Given the description of an element on the screen output the (x, y) to click on. 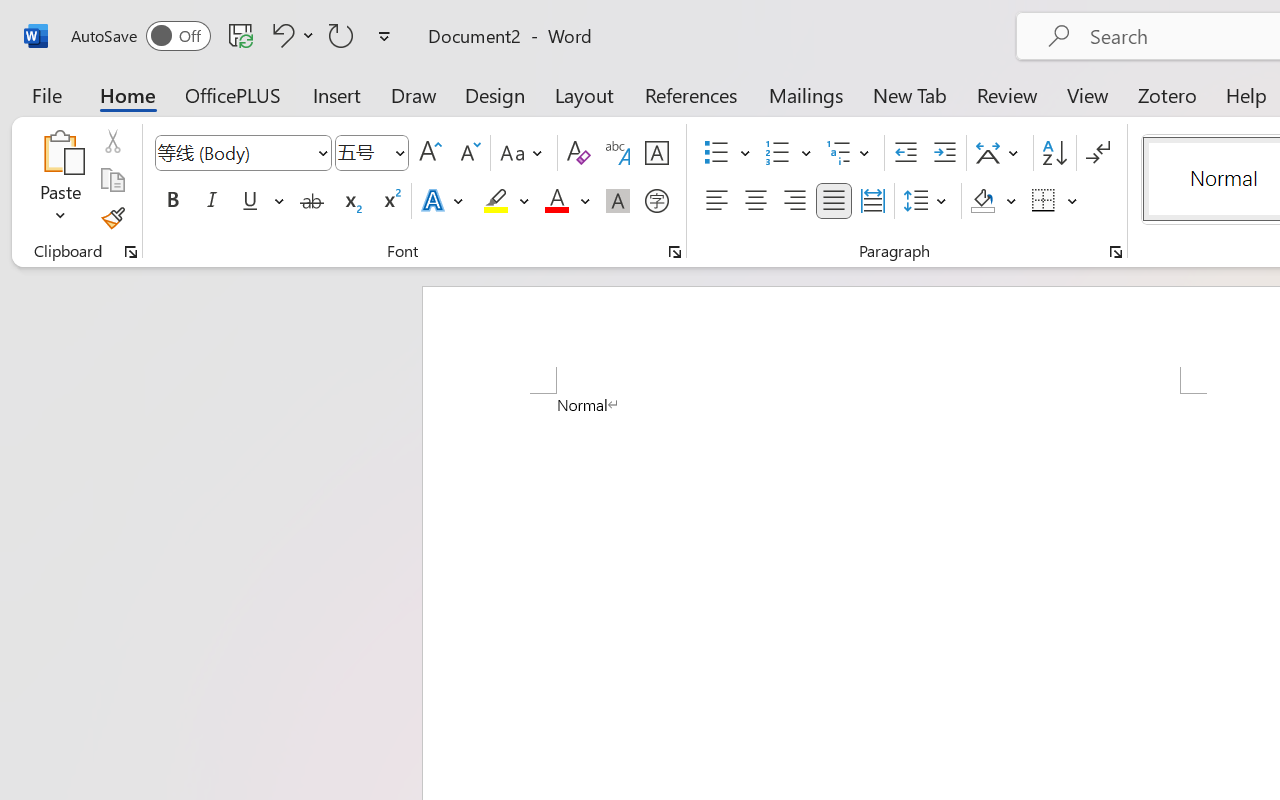
AutoSave (140, 35)
Borders (1044, 201)
Paste (60, 151)
Clear Formatting (578, 153)
More Options (1073, 201)
Undo Apply Quick Style (280, 35)
Superscript (390, 201)
Bold (172, 201)
Bullets (716, 153)
Mailings (806, 94)
Multilevel List (850, 153)
Asian Layout (1000, 153)
Distributed (872, 201)
